Given the description of an element on the screen output the (x, y) to click on. 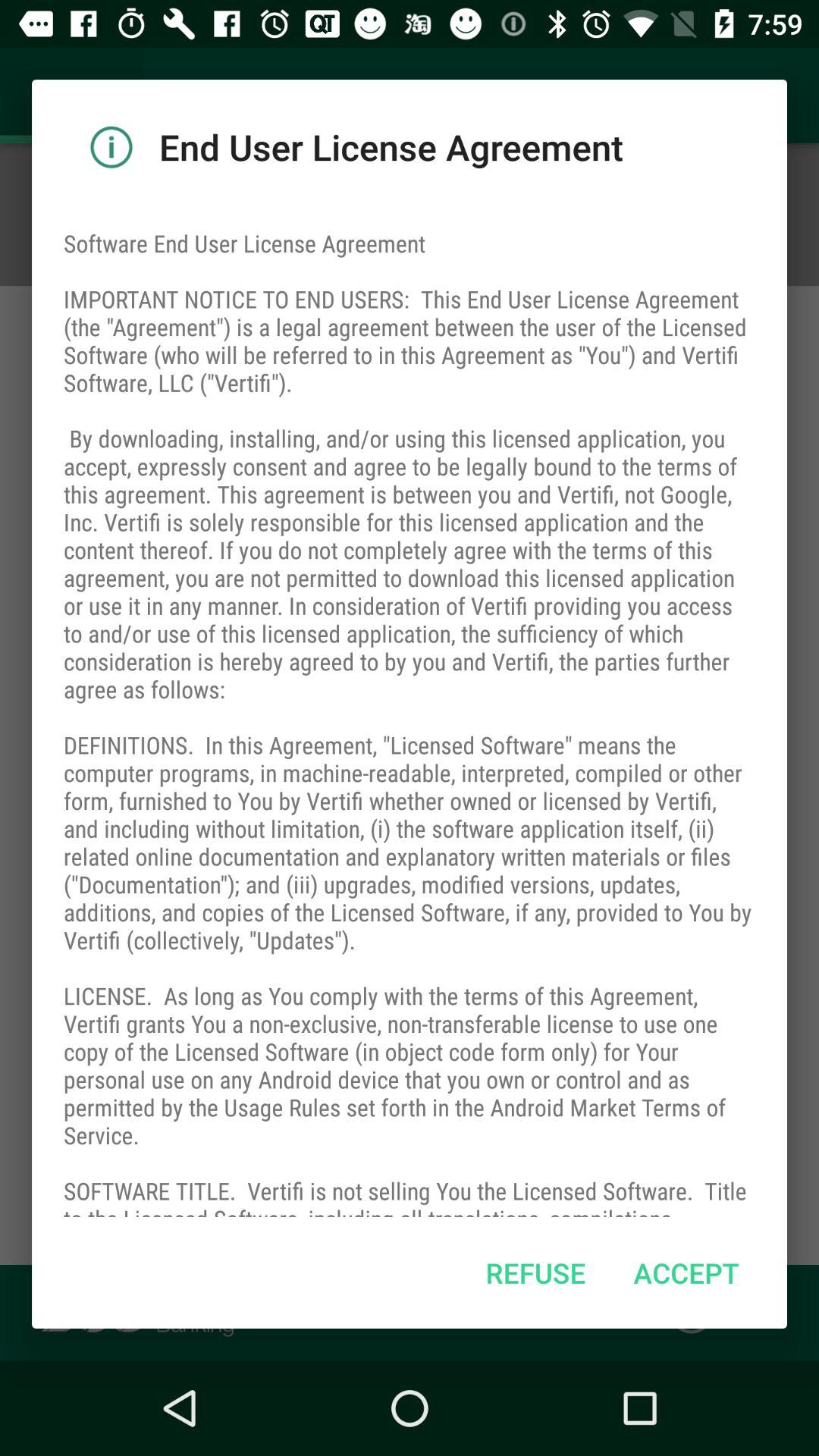
click item to the left of accept icon (535, 1272)
